Given the description of an element on the screen output the (x, y) to click on. 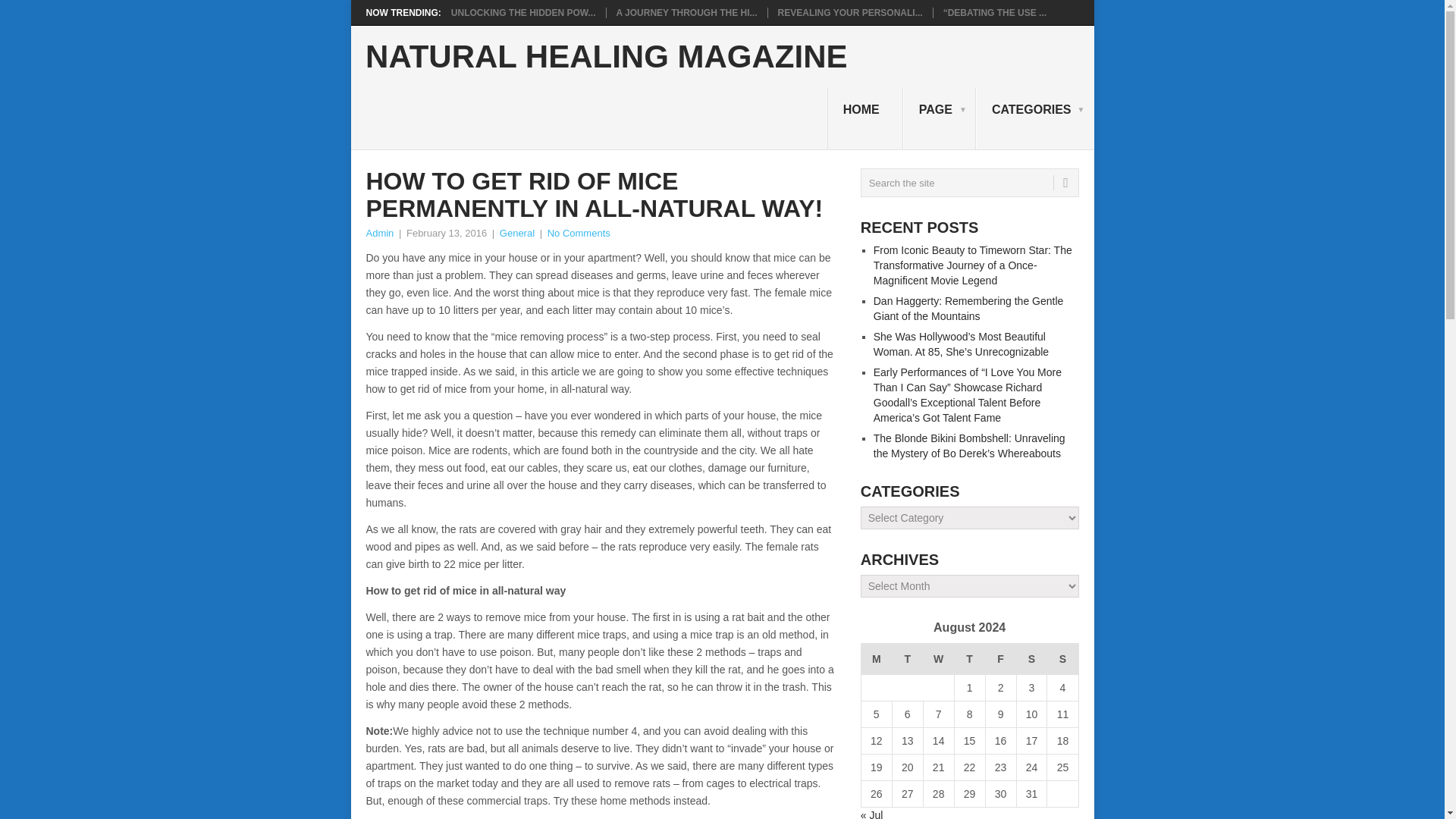
Posts by Admin (379, 233)
Search the site (969, 182)
REVEALING YOUR PERSONALI... (850, 12)
No Comments (578, 233)
NATURAL HEALING MAGAZINE (606, 56)
Thursday (969, 658)
Tuesday (907, 658)
General (516, 233)
